Given the description of an element on the screen output the (x, y) to click on. 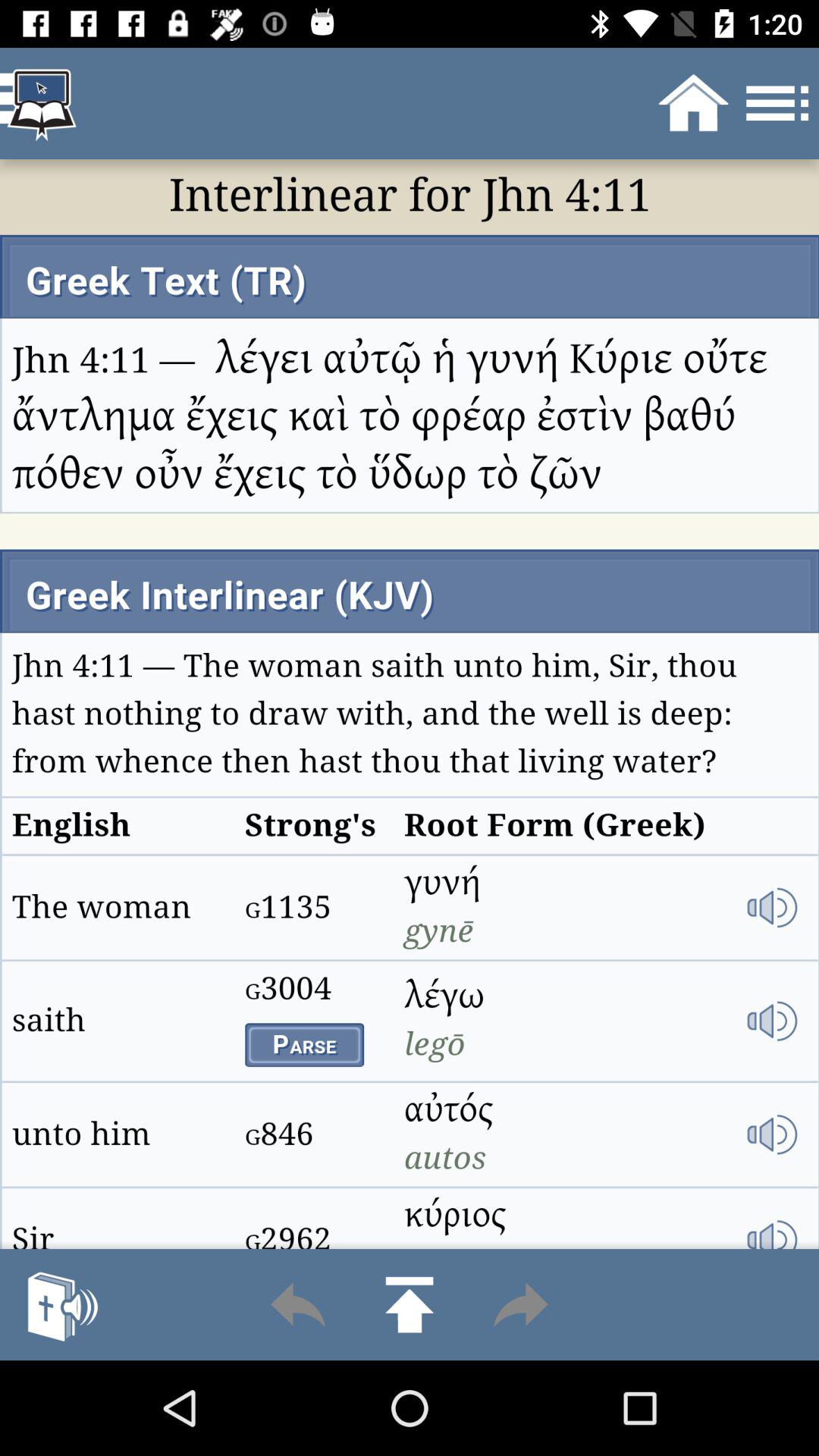
go to next (520, 1304)
